Given the description of an element on the screen output the (x, y) to click on. 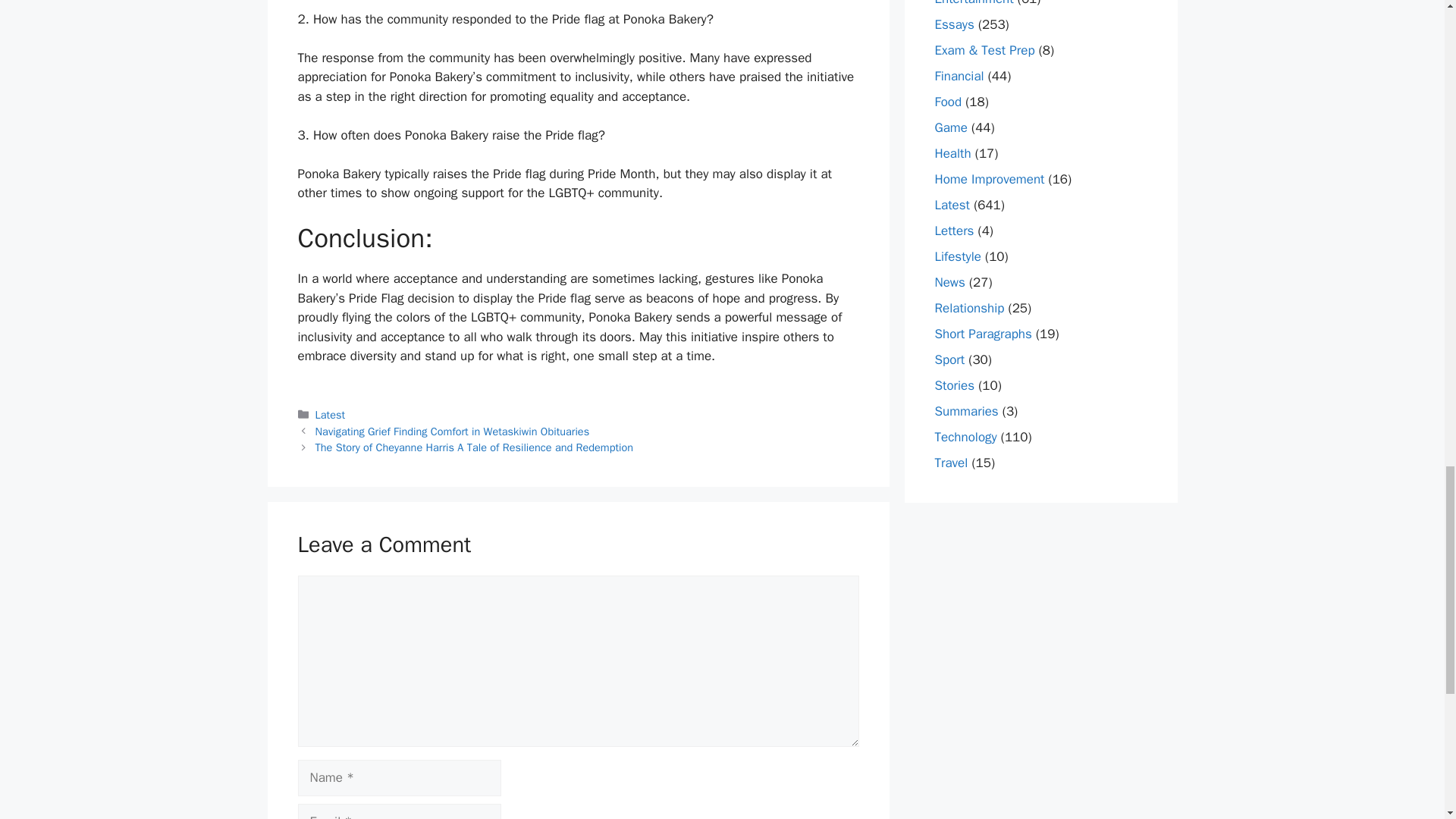
Essays (954, 24)
Latest (330, 414)
Financial (959, 75)
Food (947, 101)
Entertainment (973, 3)
Navigating Grief Finding Comfort in Wetaskiwin Obituaries (452, 431)
